Given the description of an element on the screen output the (x, y) to click on. 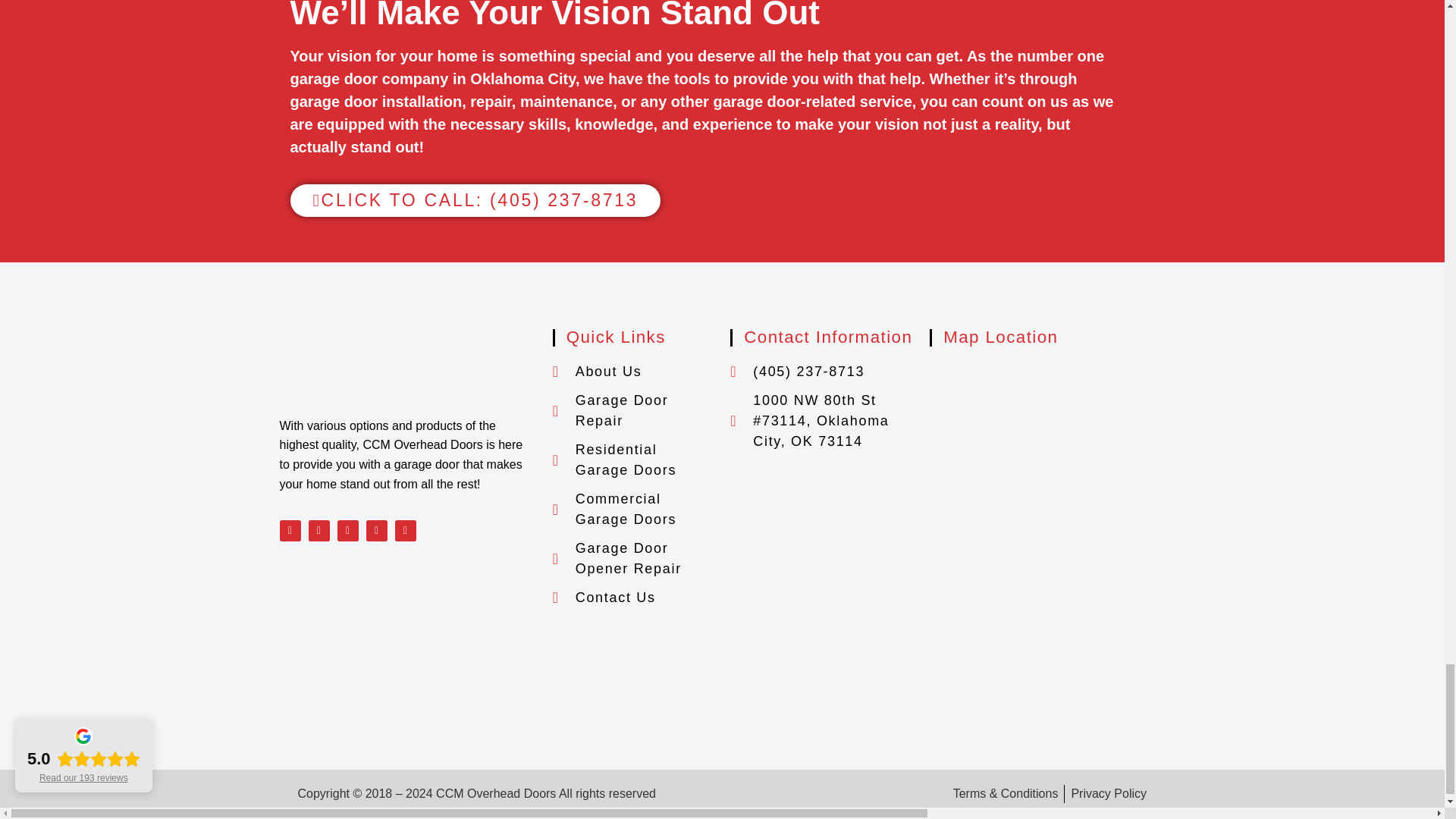
Google Maps CCM Overhead (1049, 456)
